Given the description of an element on the screen output the (x, y) to click on. 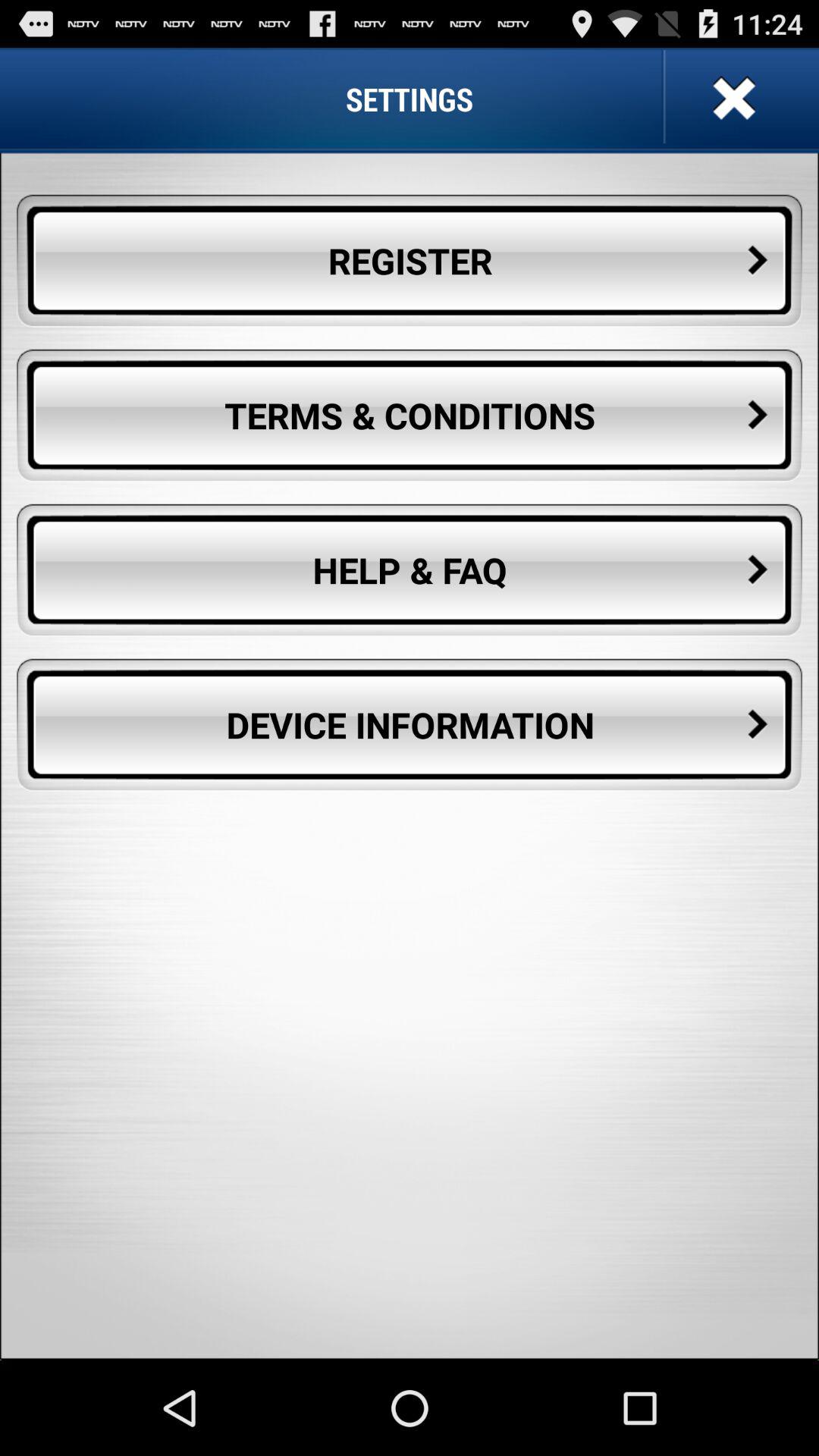
turn off item above the device information button (409, 570)
